Given the description of an element on the screen output the (x, y) to click on. 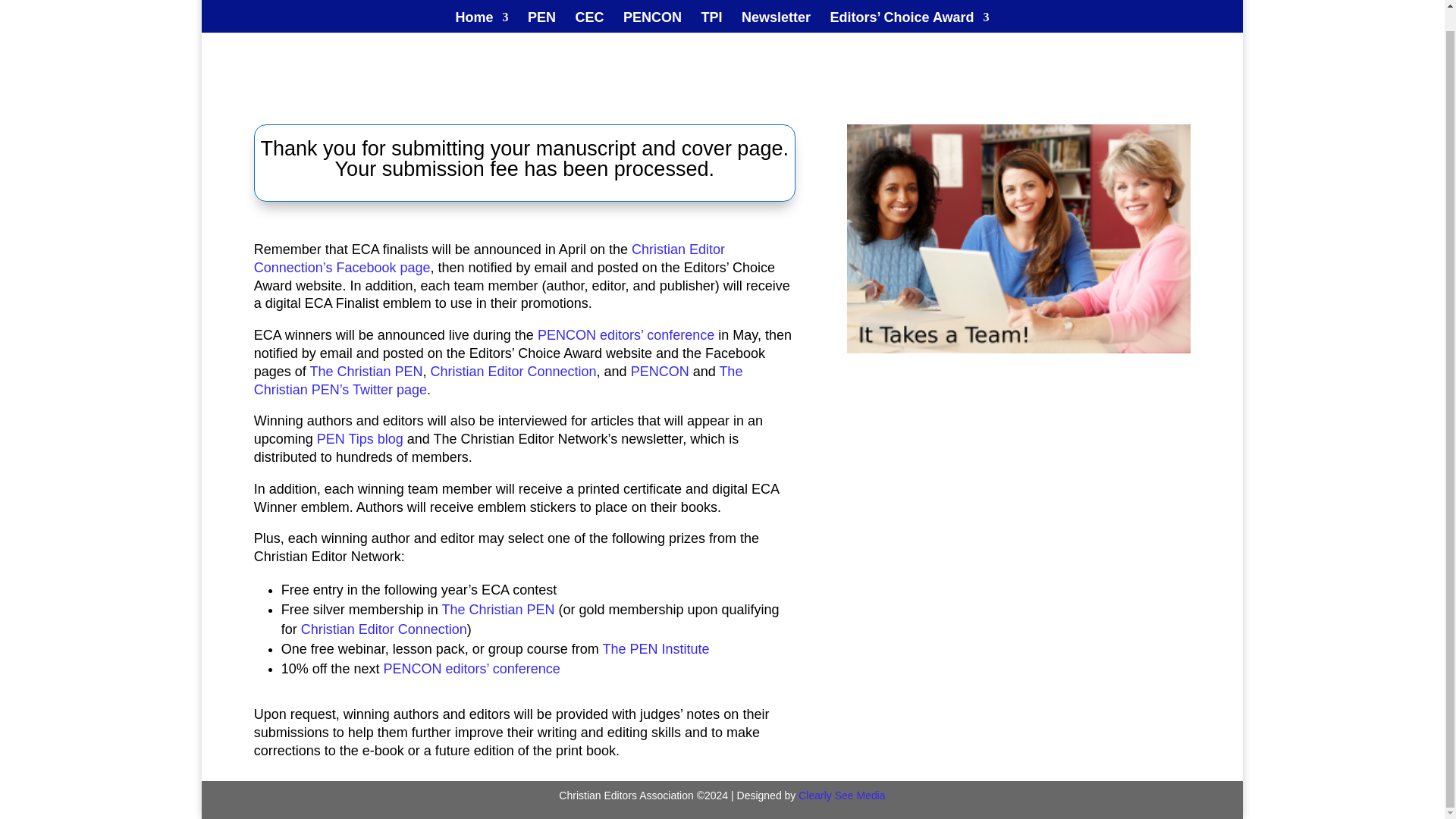
Home (481, 6)
PEN (541, 6)
Newsletter (775, 6)
The Christian PEN (365, 371)
PENCON (652, 6)
Christian Editor Connection (384, 629)
PEN Tips blog (360, 438)
The PEN Institute (656, 648)
PENCON (659, 371)
Christian Editor Connection (512, 371)
TPI (711, 6)
The Christian PEN (497, 609)
CEC (589, 6)
